Given the description of an element on the screen output the (x, y) to click on. 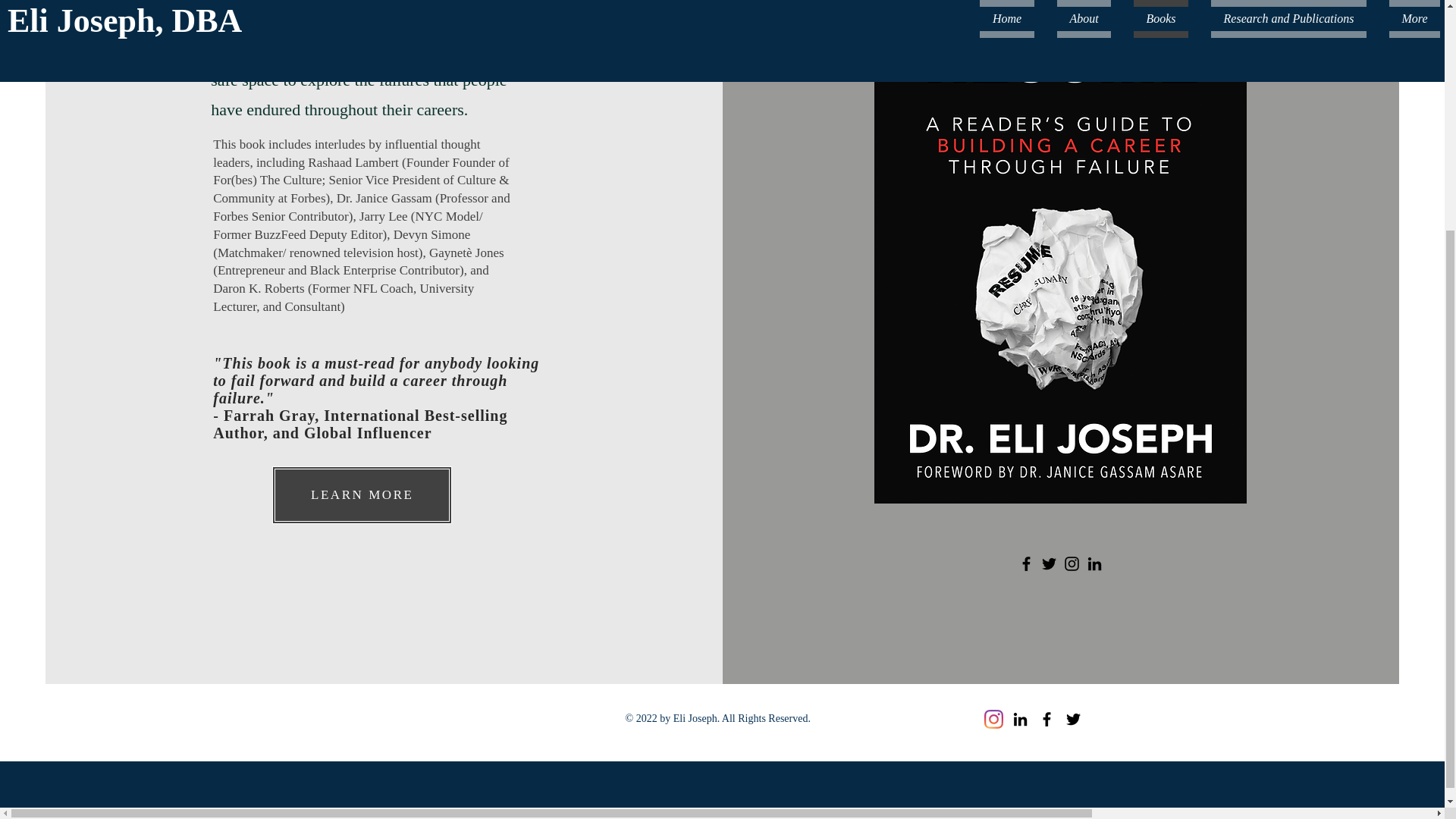
LEARN MORE (361, 495)
